Given the description of an element on the screen output the (x, y) to click on. 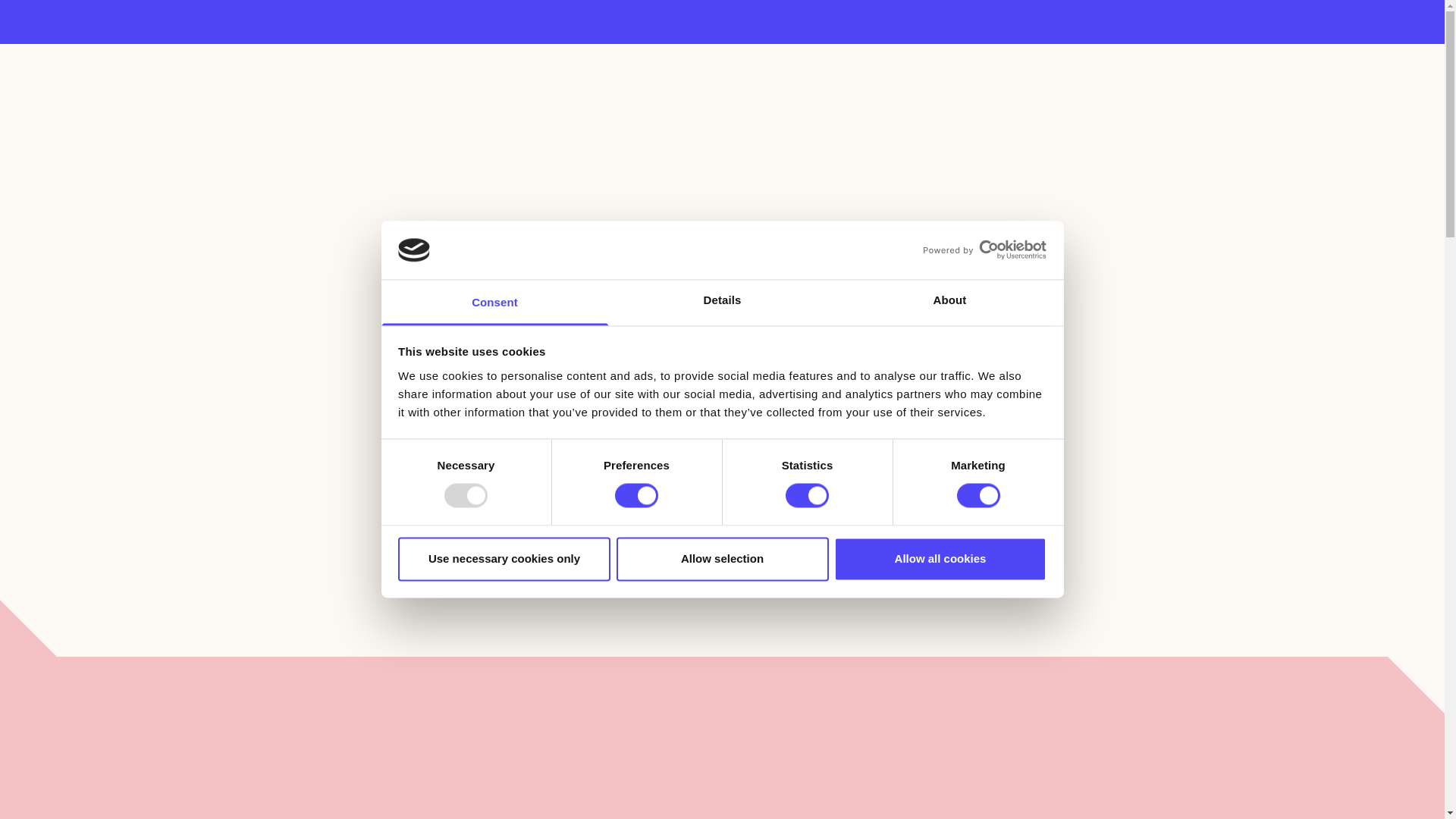
Allow selection (721, 558)
Use necessary cookies only (503, 558)
About (948, 302)
Allow all cookies (940, 558)
Consent (494, 302)
Details (721, 302)
